Given the description of an element on the screen output the (x, y) to click on. 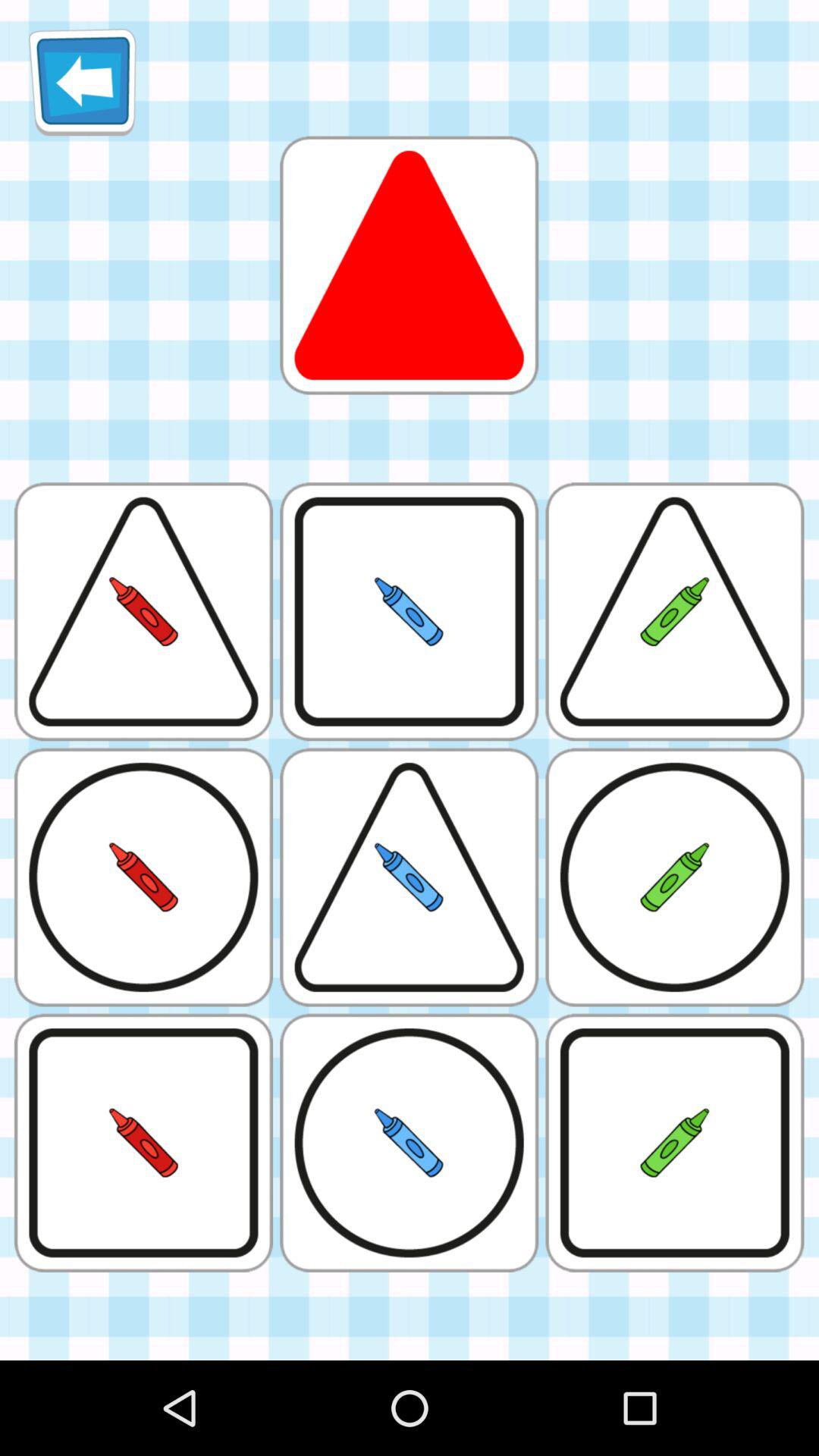
shape distinction (409, 265)
